Given the description of an element on the screen output the (x, y) to click on. 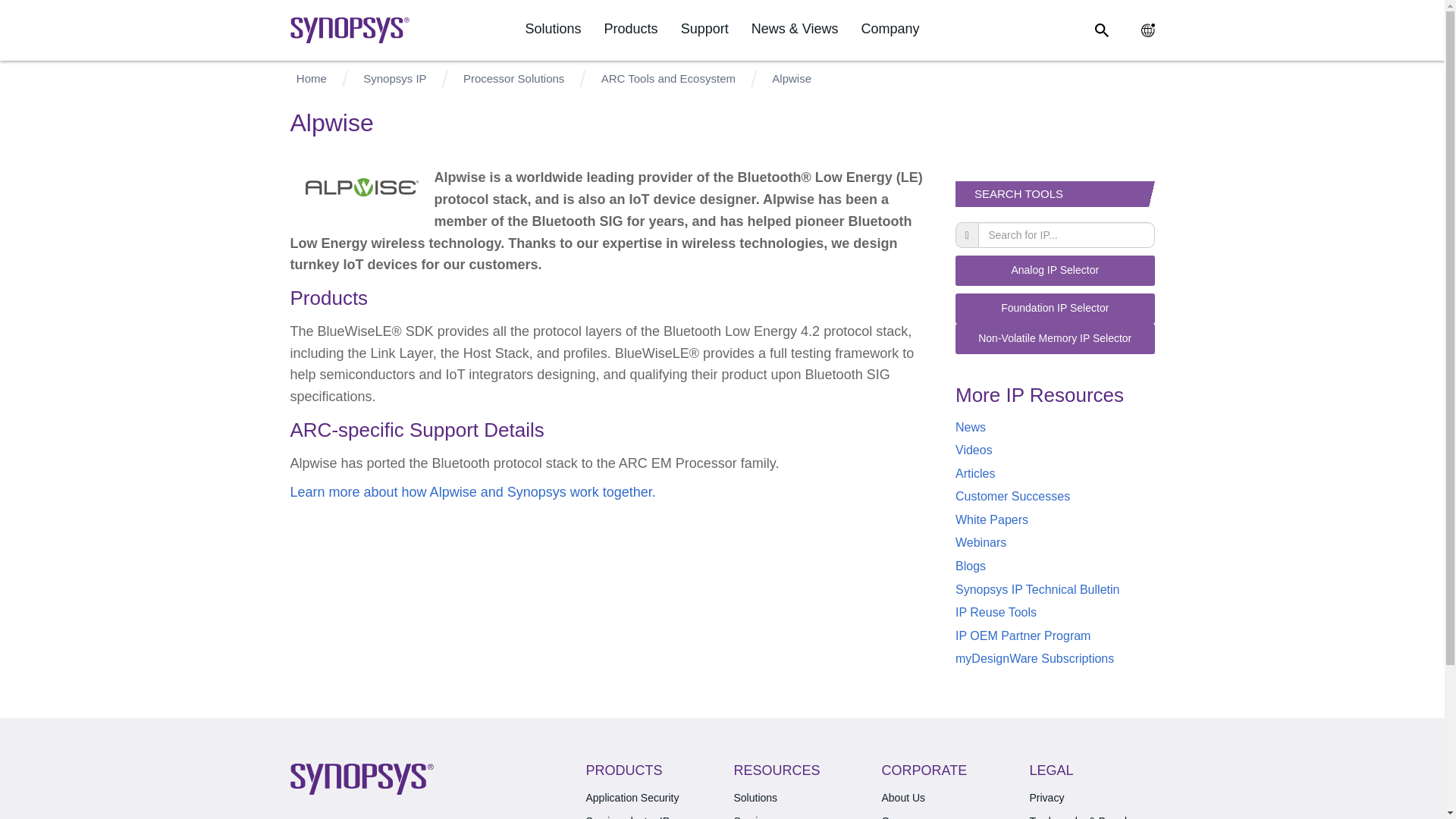
Products (631, 28)
Synopsys Home (349, 30)
Solutions (552, 28)
Company (889, 28)
Support (705, 28)
